Given the description of an element on the screen output the (x, y) to click on. 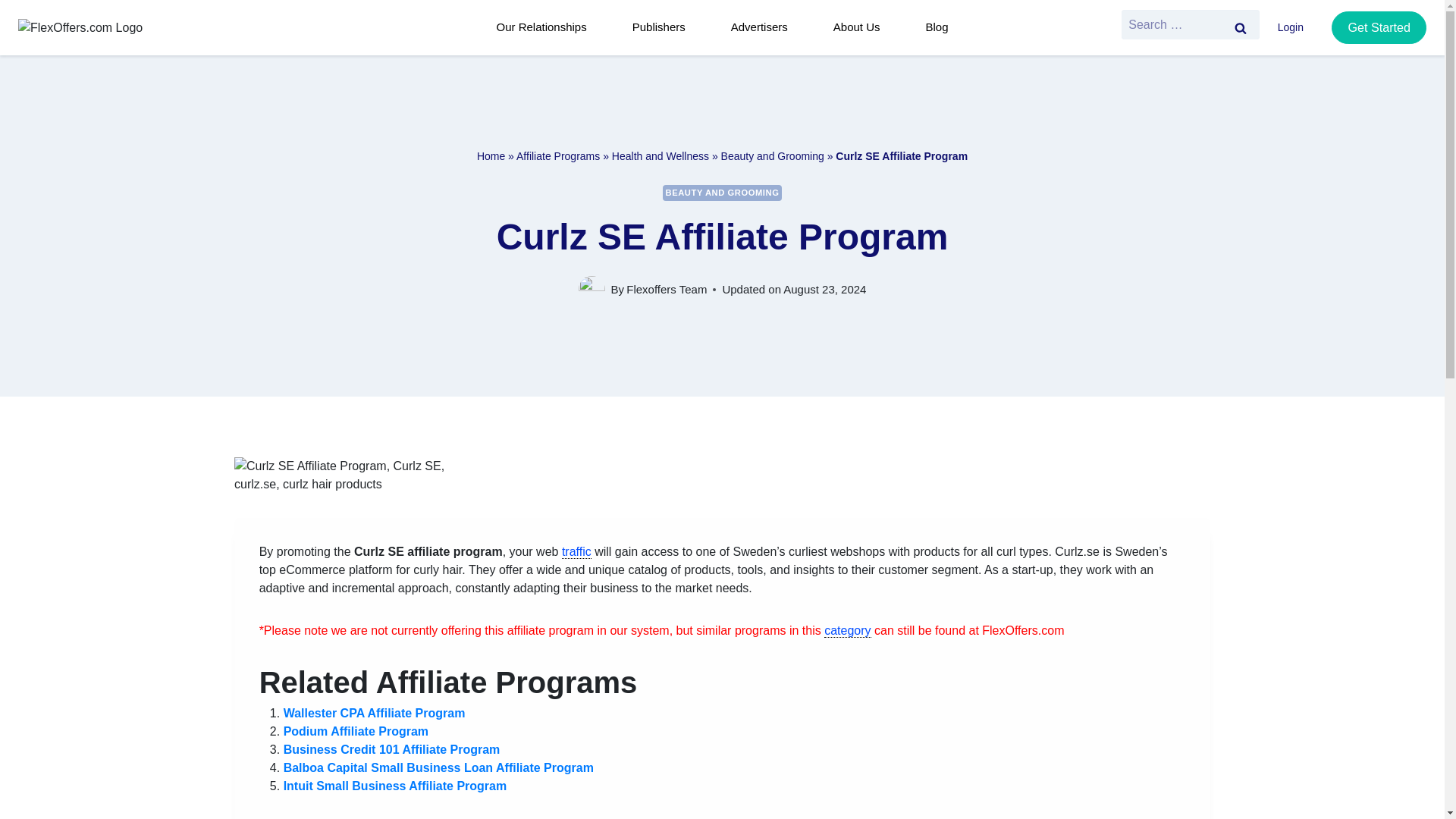
Affiliate Programs (557, 155)
Podium Affiliate Program (355, 730)
Our Relationships (546, 27)
Health and Wellness (660, 155)
Balboa Capital Small Business Loan Affiliate Program (438, 767)
Balboa Capital Small Business Loan Affiliate Program (438, 767)
category (847, 631)
Podium Affiliate Program (355, 730)
Login (1294, 27)
Beauty and Grooming (772, 155)
